Given the description of an element on the screen output the (x, y) to click on. 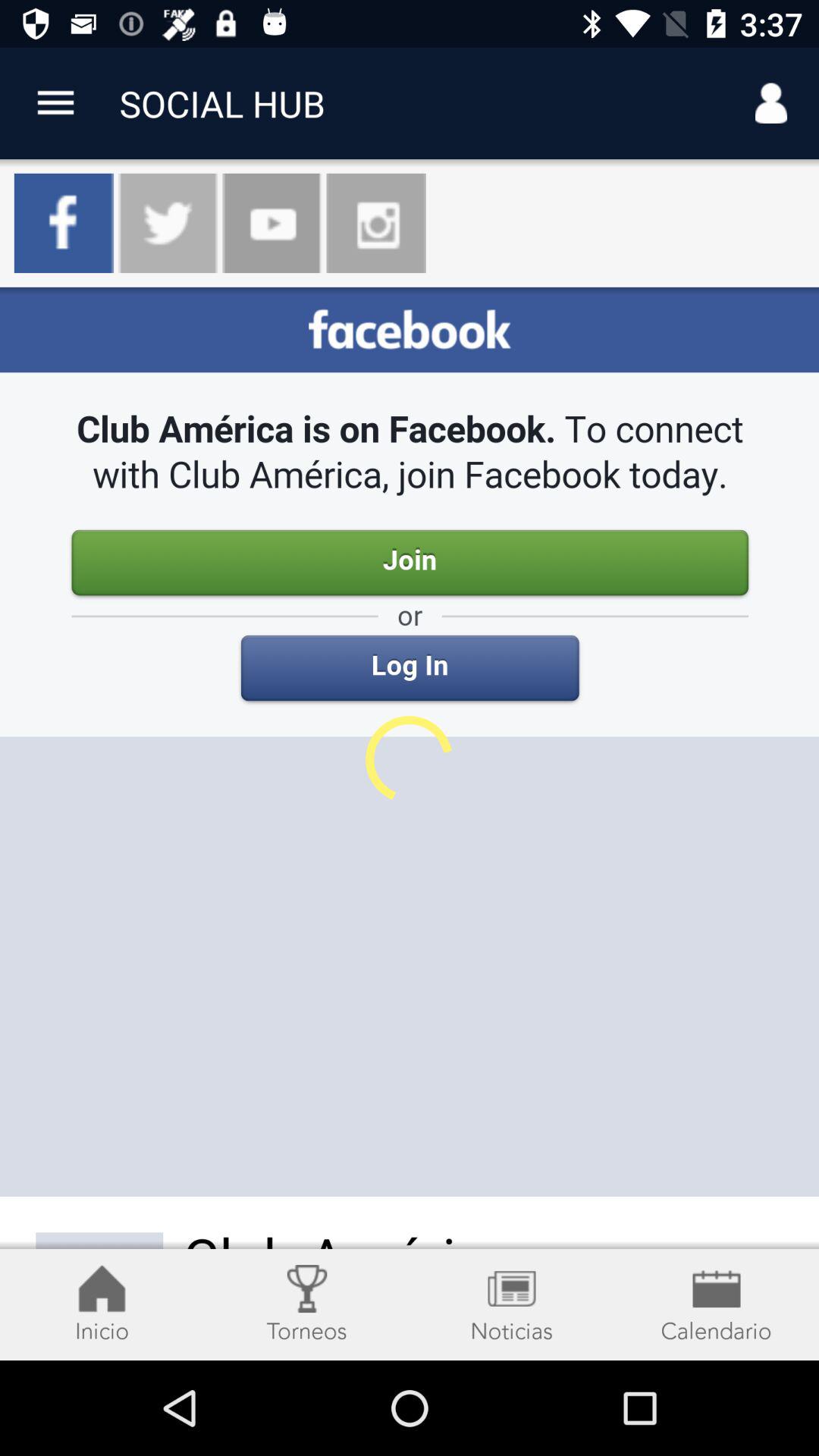
go to facebook (409, 823)
